Given the description of an element on the screen output the (x, y) to click on. 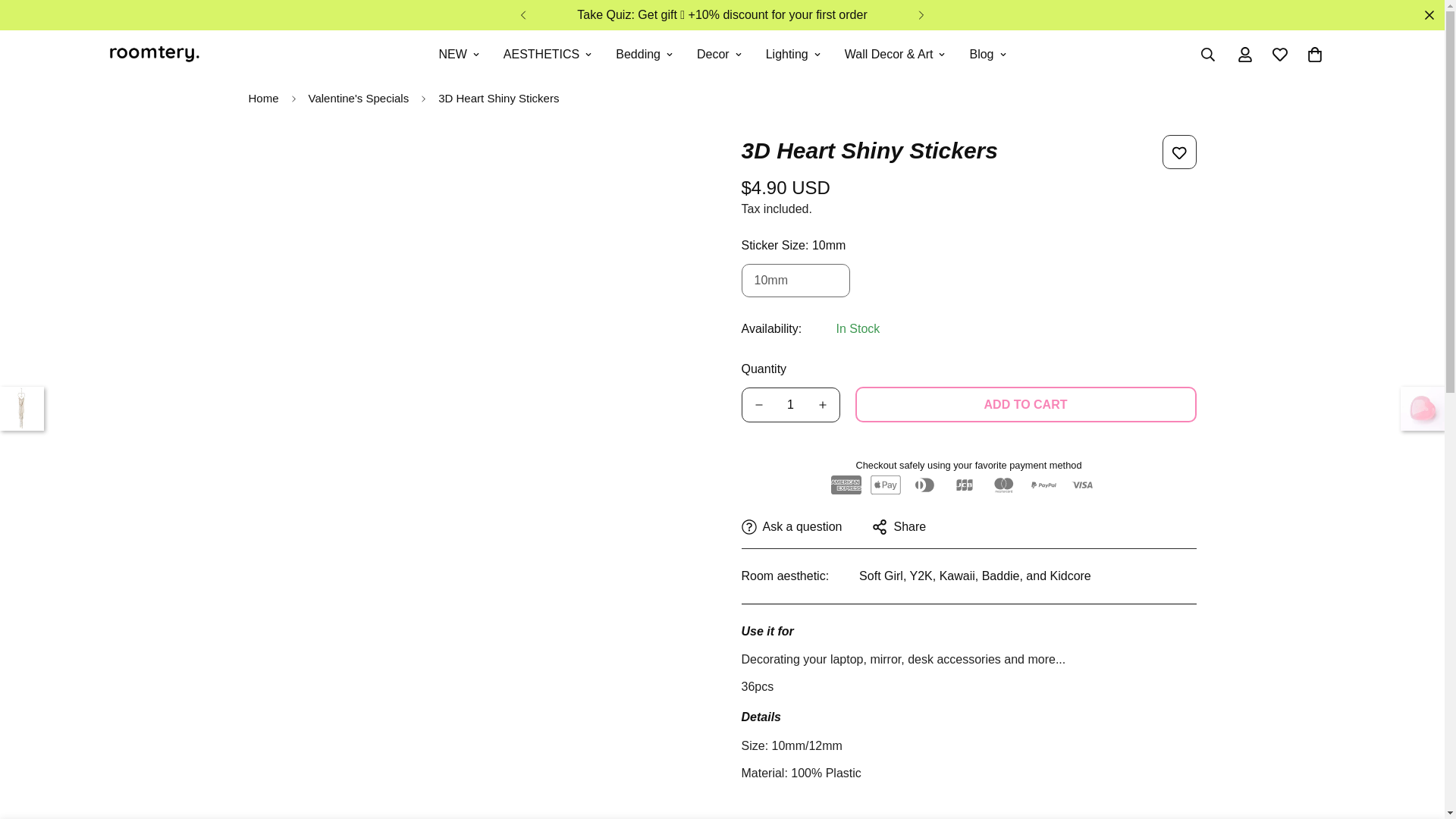
Heart Shaped Macrame Wall Hanging (21, 408)
roomtery (152, 53)
1 (789, 404)
Back to the home page (262, 98)
